Given the description of an element on the screen output the (x, y) to click on. 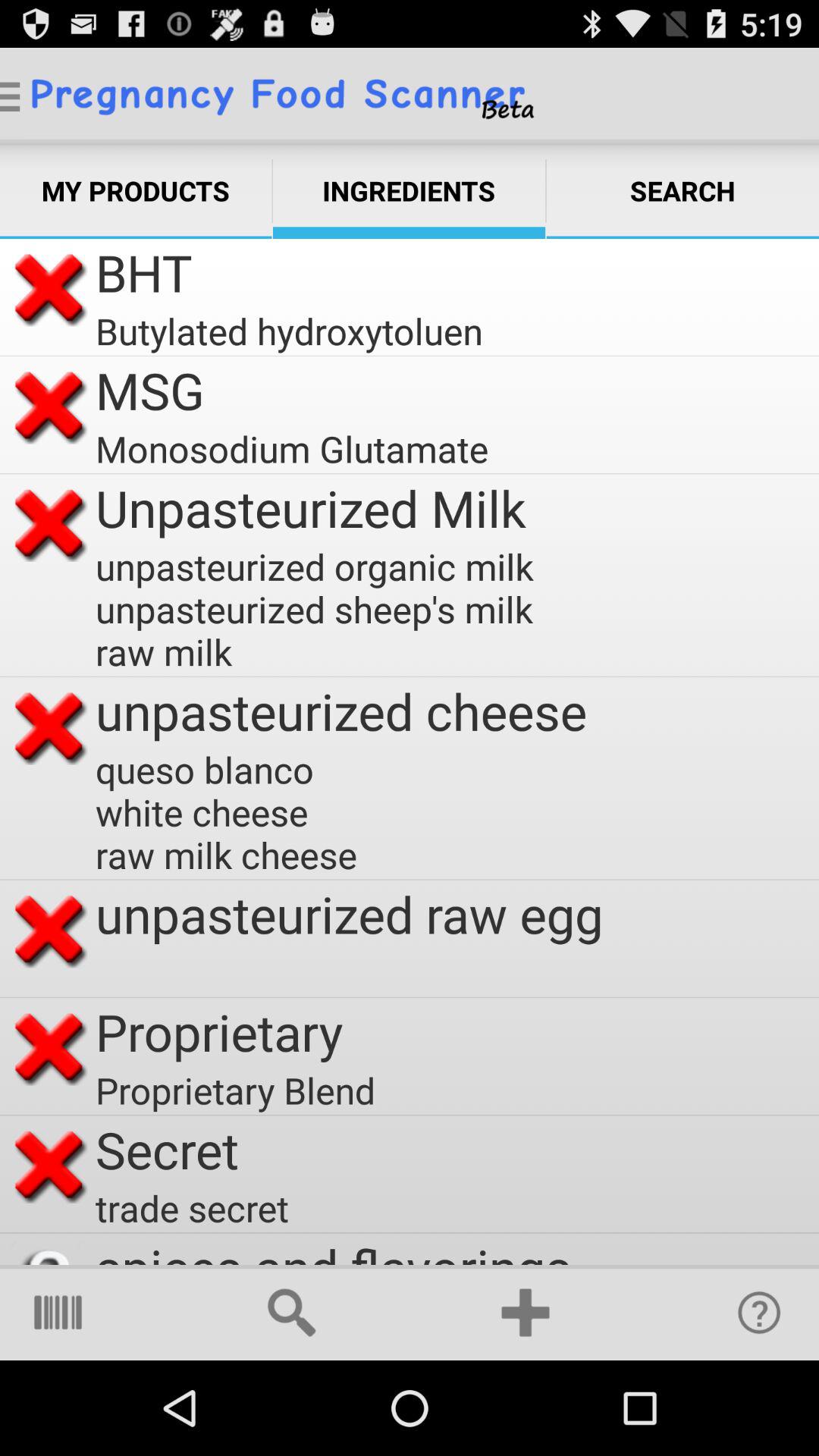
turn off the app below the spices and flavorings item (525, 1312)
